Given the description of an element on the screen output the (x, y) to click on. 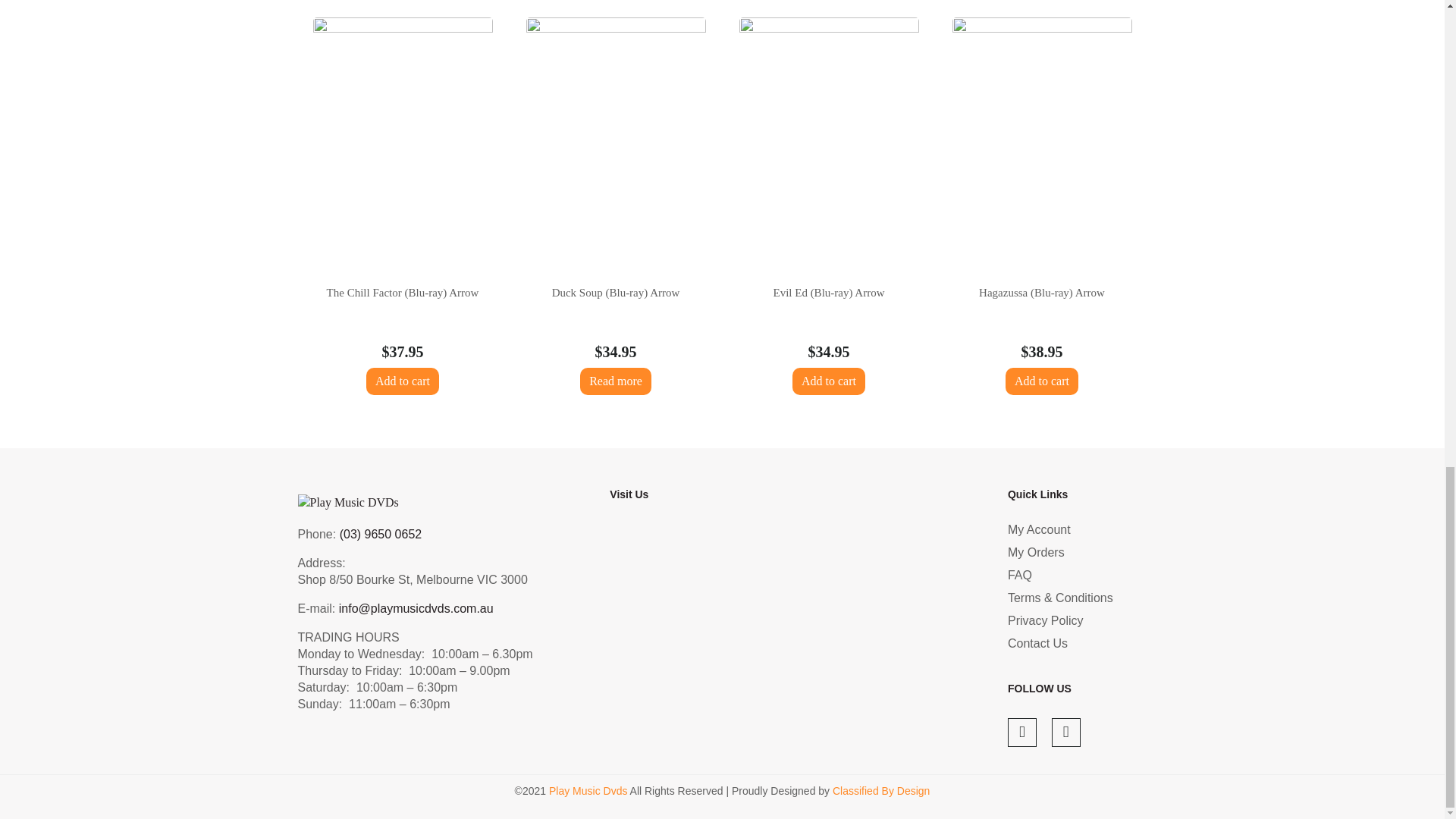
Play music DVDs (789, 637)
Read more (614, 380)
Add to cart (1042, 380)
Add to cart (828, 380)
Add to cart (402, 380)
